Given the description of an element on the screen output the (x, y) to click on. 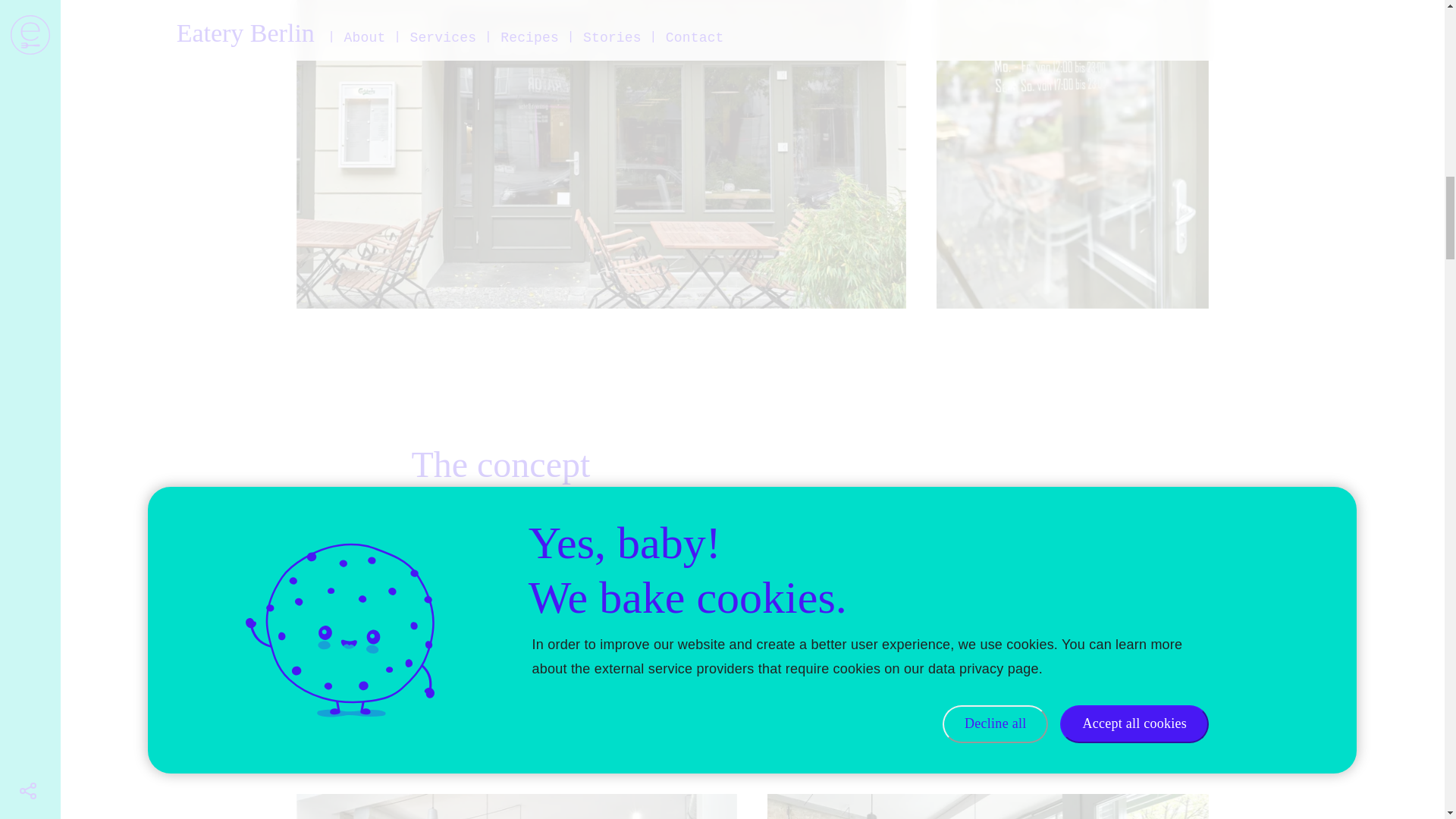
interior-of-restaurant-achtunddreissig-berlin (517, 806)
interior-of-restaurant-achtunddreissig-berlin (987, 806)
